Given the description of an element on the screen output the (x, y) to click on. 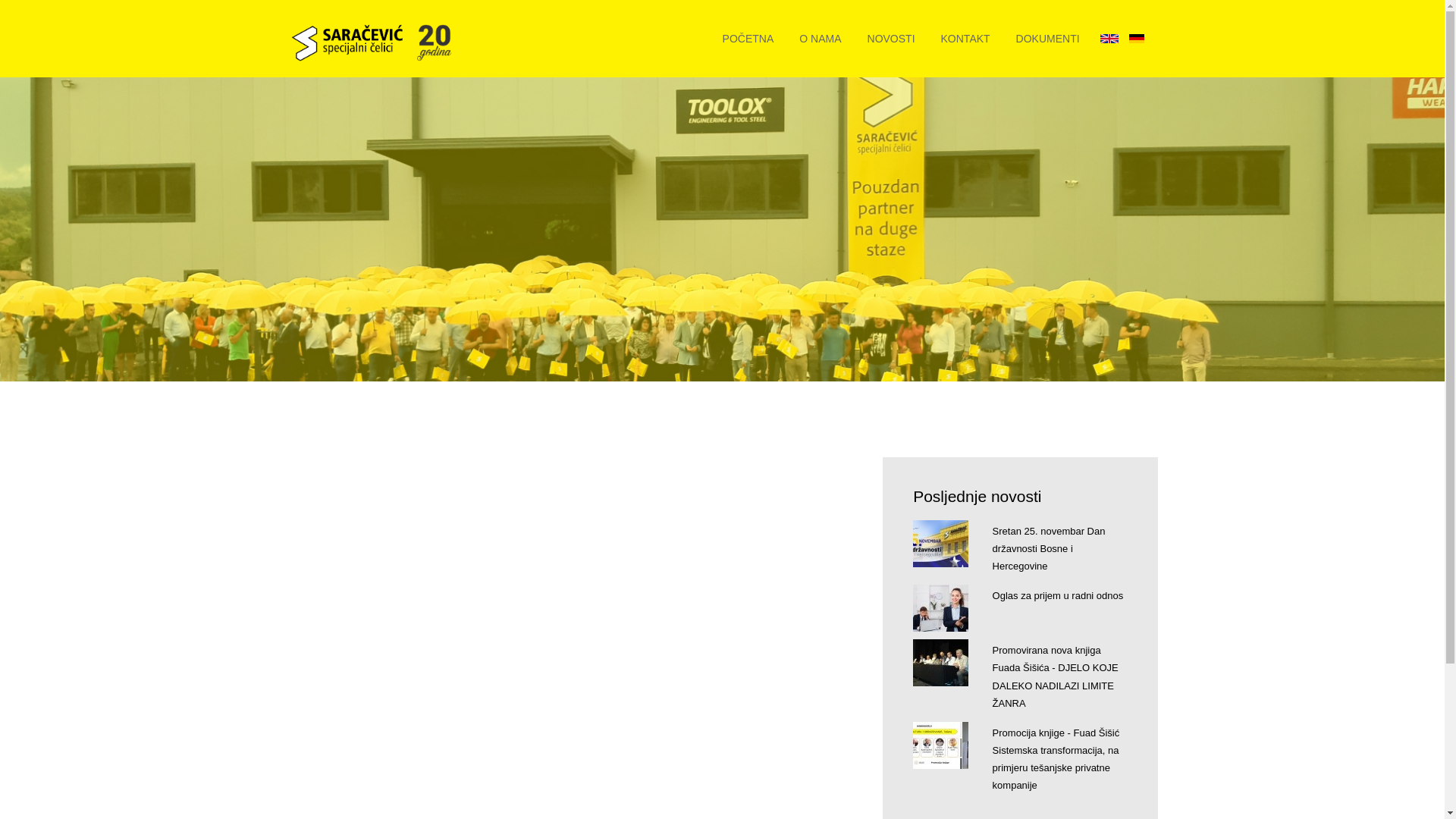
O NAMA Element type: text (820, 38)
KONTAKT Element type: text (965, 38)
DOKUMENTI Element type: text (1047, 38)
NOVOSTI Element type: text (891, 38)
Oglas za prijem u radni odnos Element type: text (1057, 595)
